Given the description of an element on the screen output the (x, y) to click on. 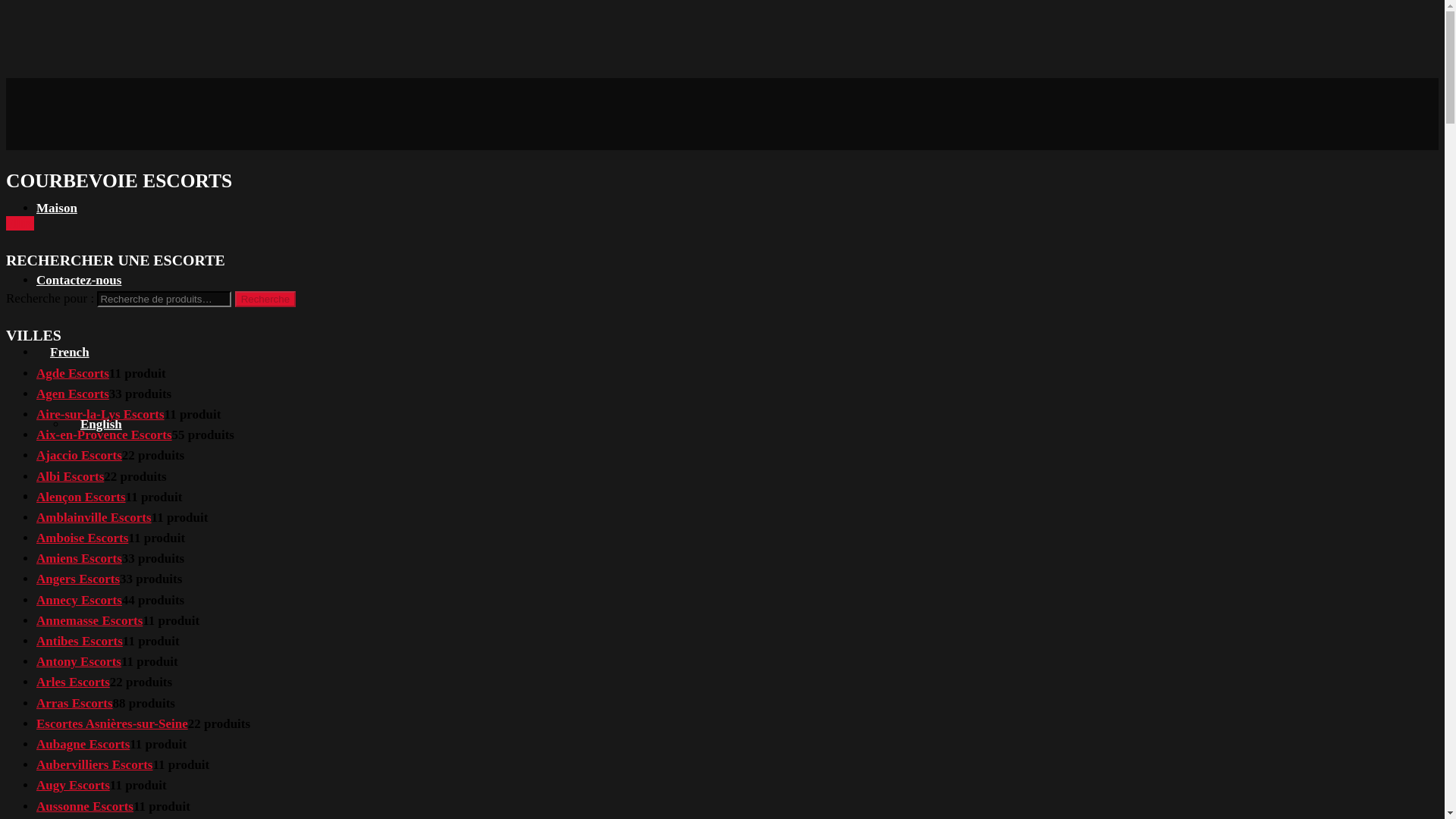
Aussonne Escorts (84, 806)
Arles Escorts (73, 681)
Aubervilliers Escorts (94, 764)
Aix-en-Provence Escorts (103, 434)
Aire-sur-la-Lys Escorts (100, 414)
Agde Escorts (72, 373)
Agen Escorts (72, 393)
English (94, 423)
Arras Escorts (74, 703)
Aubagne Escorts (82, 744)
Amblainville Escorts (93, 517)
Contactez-nous (78, 279)
Ajaccio Escorts (79, 454)
Amiens Escorts (79, 558)
Angers Escorts (77, 578)
